Given the description of an element on the screen output the (x, y) to click on. 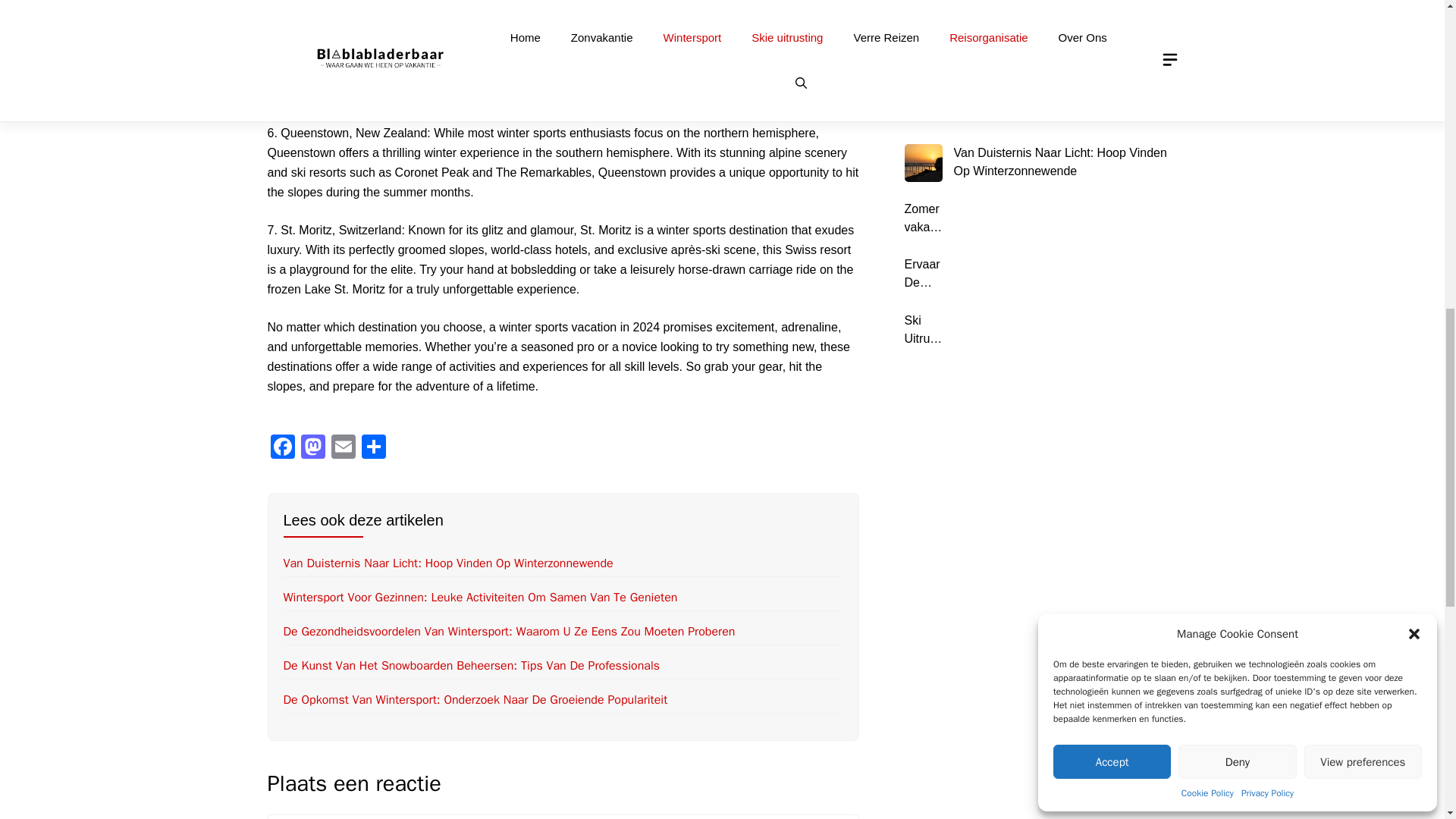
Email (342, 448)
Facebook (281, 448)
Mastodon (312, 448)
Mastodon (312, 448)
Van Duisternis Naar Licht: Hoop Vinden Op Winterzonnewende (447, 563)
Email (342, 448)
